Given the description of an element on the screen output the (x, y) to click on. 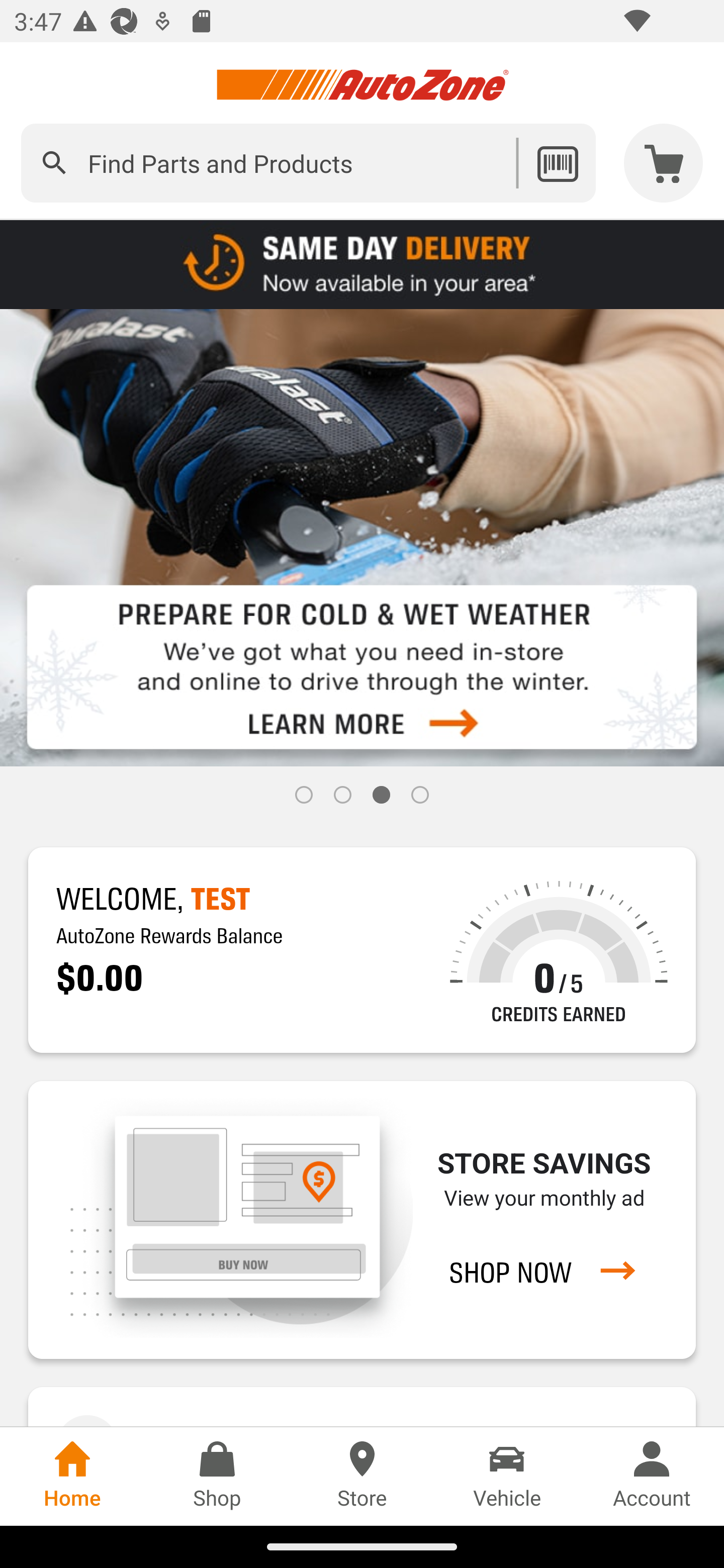
 scan-product-to-search  (557, 162)
 (54, 163)
Cart, no items  (663, 162)
Same Day Delivery - now available in your area* (362, 262)
Home (72, 1475)
Shop (216, 1475)
Store (361, 1475)
Vehicle (506, 1475)
Account (651, 1475)
